Given the description of an element on the screen output the (x, y) to click on. 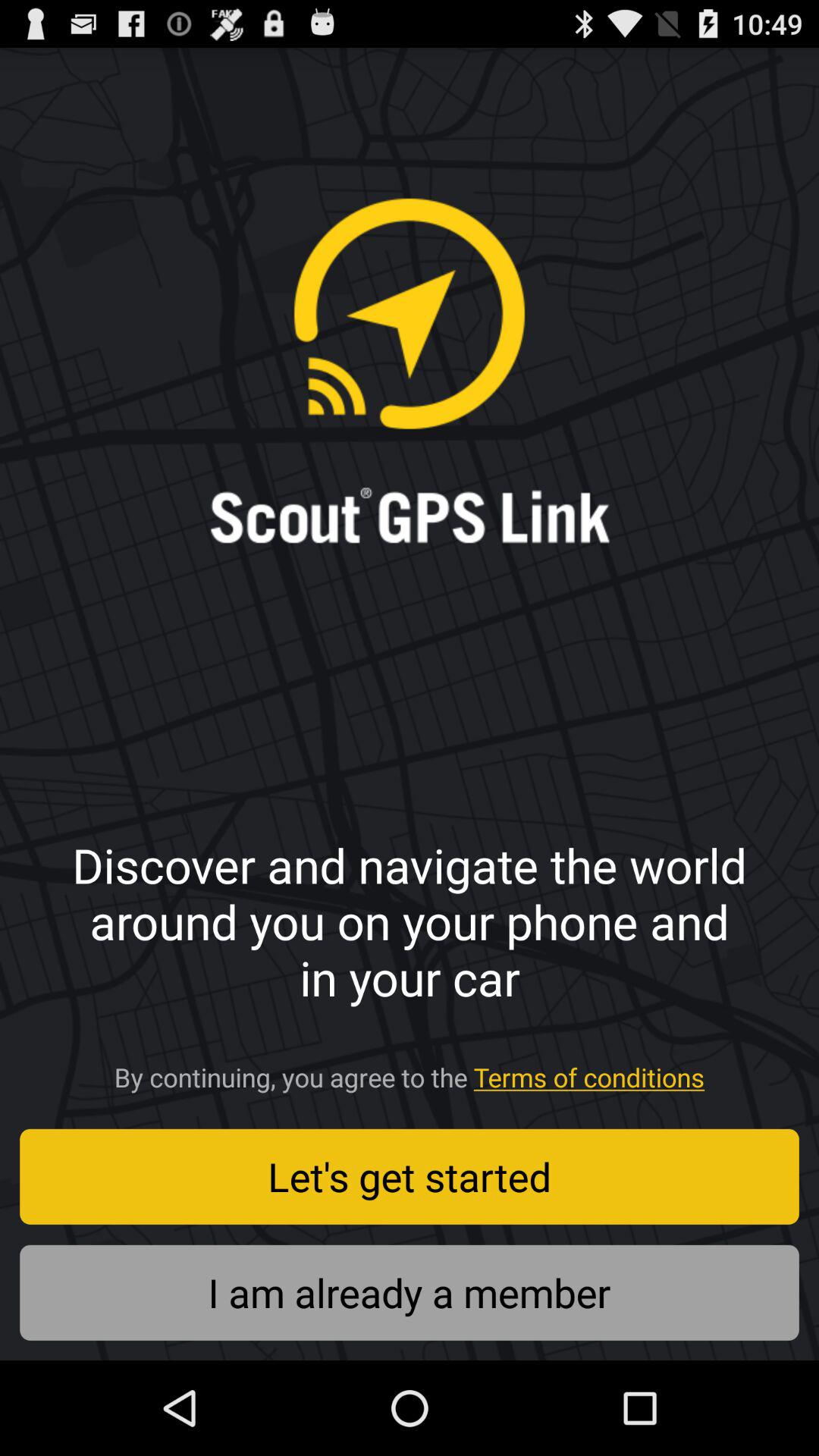
select the item below the by continuing you icon (409, 1176)
